Given the description of an element on the screen output the (x, y) to click on. 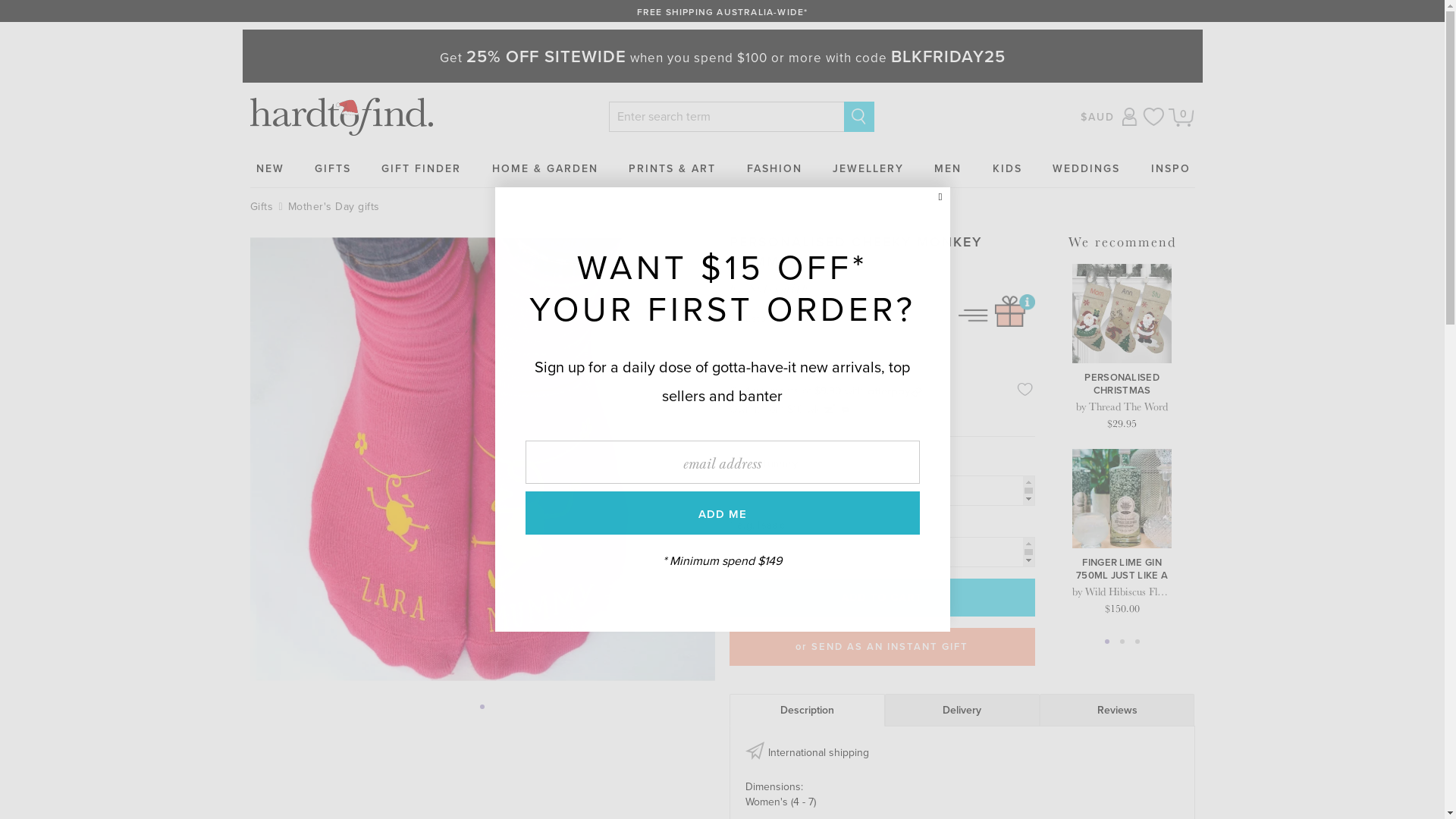
GIFT FINDER Element type: text (420, 168)
INSPO Element type: text (1170, 168)
MEN Element type: text (947, 168)
WEDDINGS Element type: text (1086, 168)
Thread The Word Element type: text (1127, 406)
DEEP DARK RED FINGER LIME GIN 750ML Element type: text (1266, 383)
HOME & GARDEN Element type: text (544, 168)
NEW Element type: text (269, 168)
Papier Tales Element type: text (1273, 591)
Gifts Element type: text (263, 206)
ADD ME Element type: text (721, 512)
GIFTS Element type: text (332, 168)
0 Element type: text (1180, 116)
Solesmith Element type: text (778, 287)
JEWELLERY Element type: text (868, 168)
Wild Hibiscus Flower Company Element type: text (1154, 591)
2 Customer reviews Element type: text (881, 318)
FASHION Element type: text (774, 168)
Mother's Day gifts Element type: text (333, 206)
KIDS Element type: text (1007, 168)
FINGER LIME GIN 750ML JUST LIKE A GIN FILLED SNOWDOME! Element type: text (1121, 568)
PRINTS & ART Element type: text (672, 168)
Papier Tales Element type: text (1418, 406)
Wild Hibiscus Flower Company Element type: text (1299, 406)
